Given the description of an element on the screen output the (x, y) to click on. 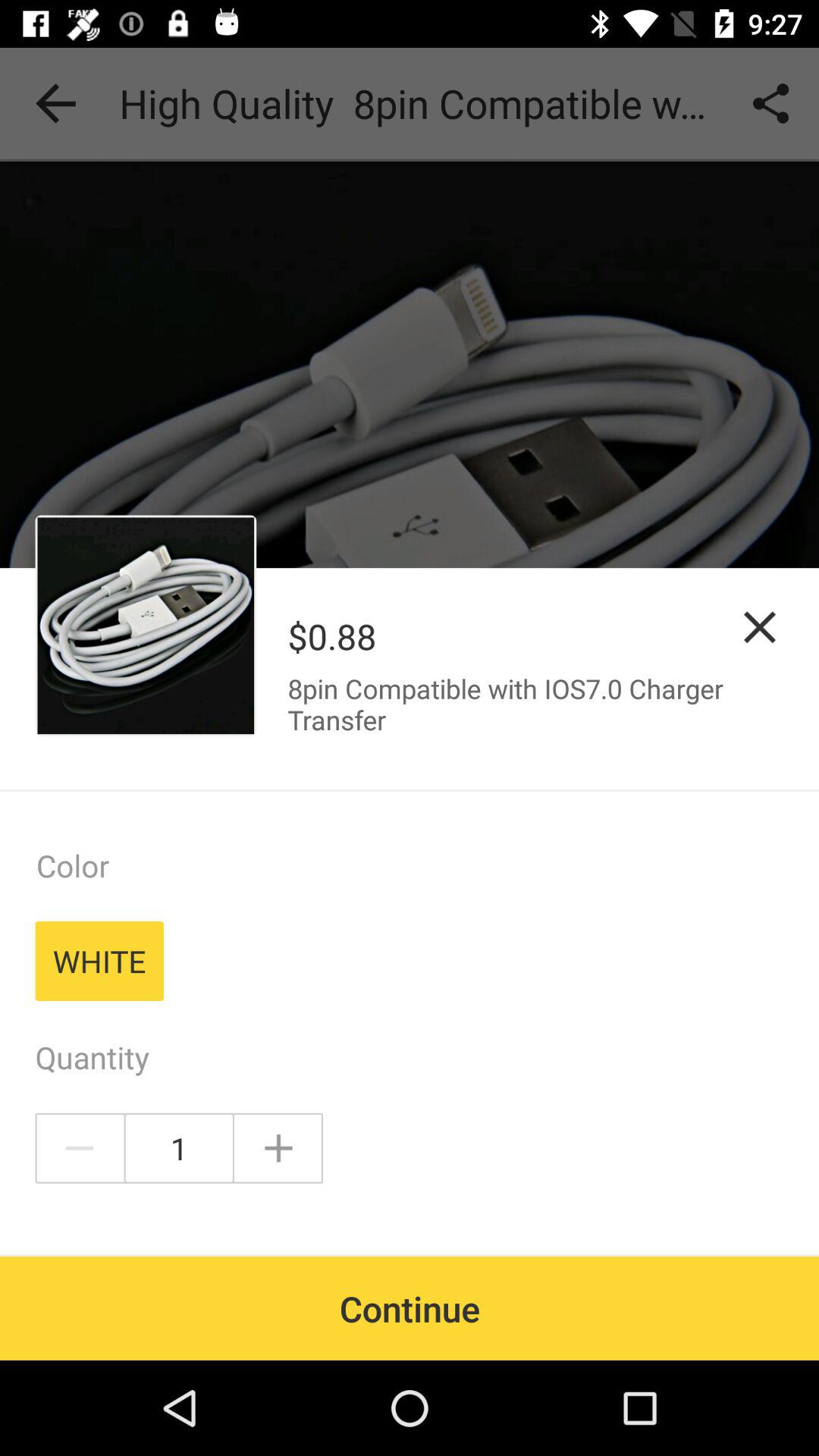
exit out of window (759, 627)
